Given the description of an element on the screen output the (x, y) to click on. 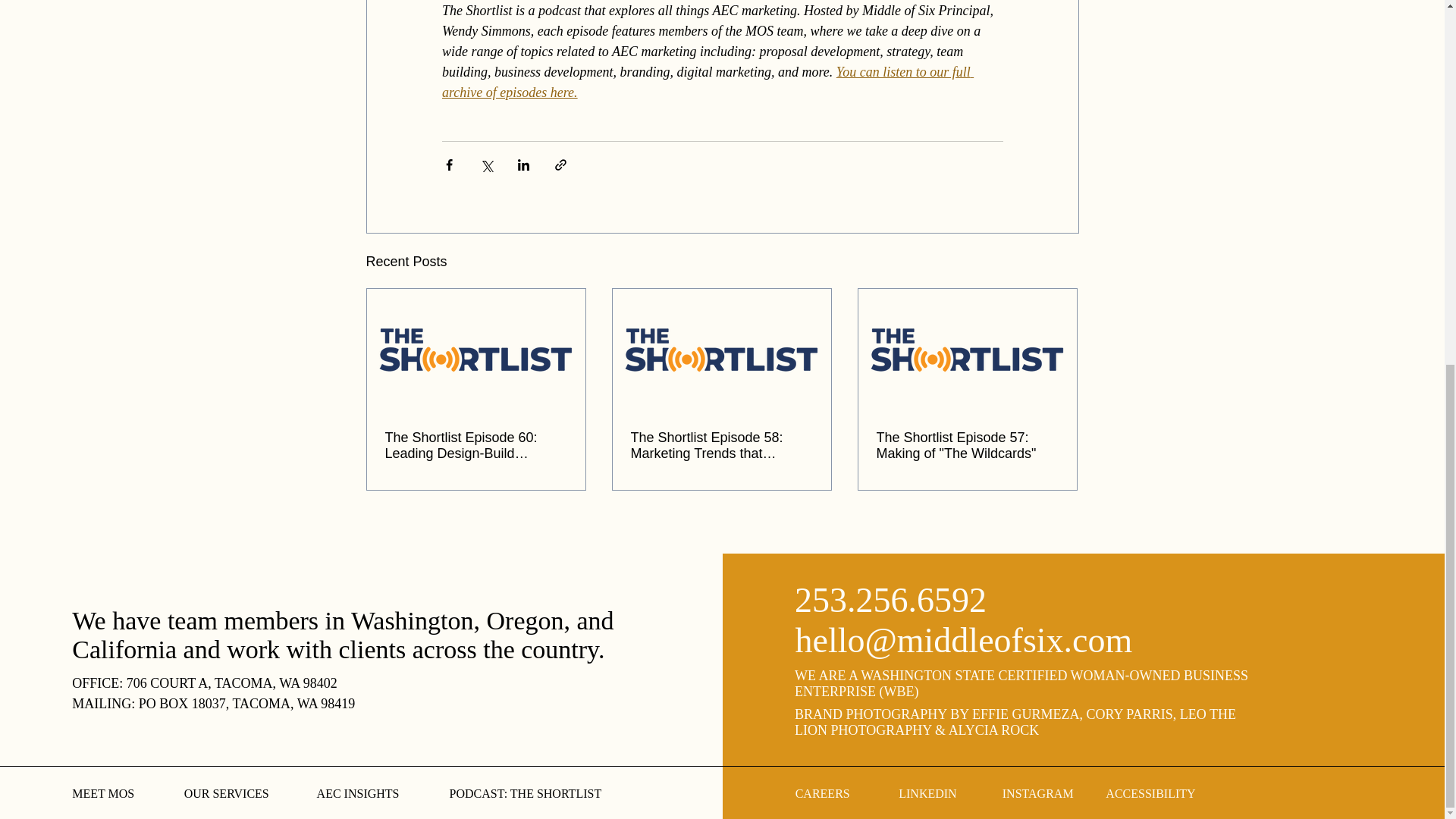
The Shortlist Episode 57: Making of "The Wildcards" (967, 445)
INSTAGRAM (1038, 793)
CAREERS (822, 793)
LEO THE LION PHOTOGRAPHY (1015, 721)
EFFIE GURMEZA (1026, 713)
ALYCIA ROCK (994, 729)
LINKEDIN (927, 793)
You can listen to our full archive of episodes here. (706, 81)
ACCESSIBILITY (1150, 793)
